Given the description of an element on the screen output the (x, y) to click on. 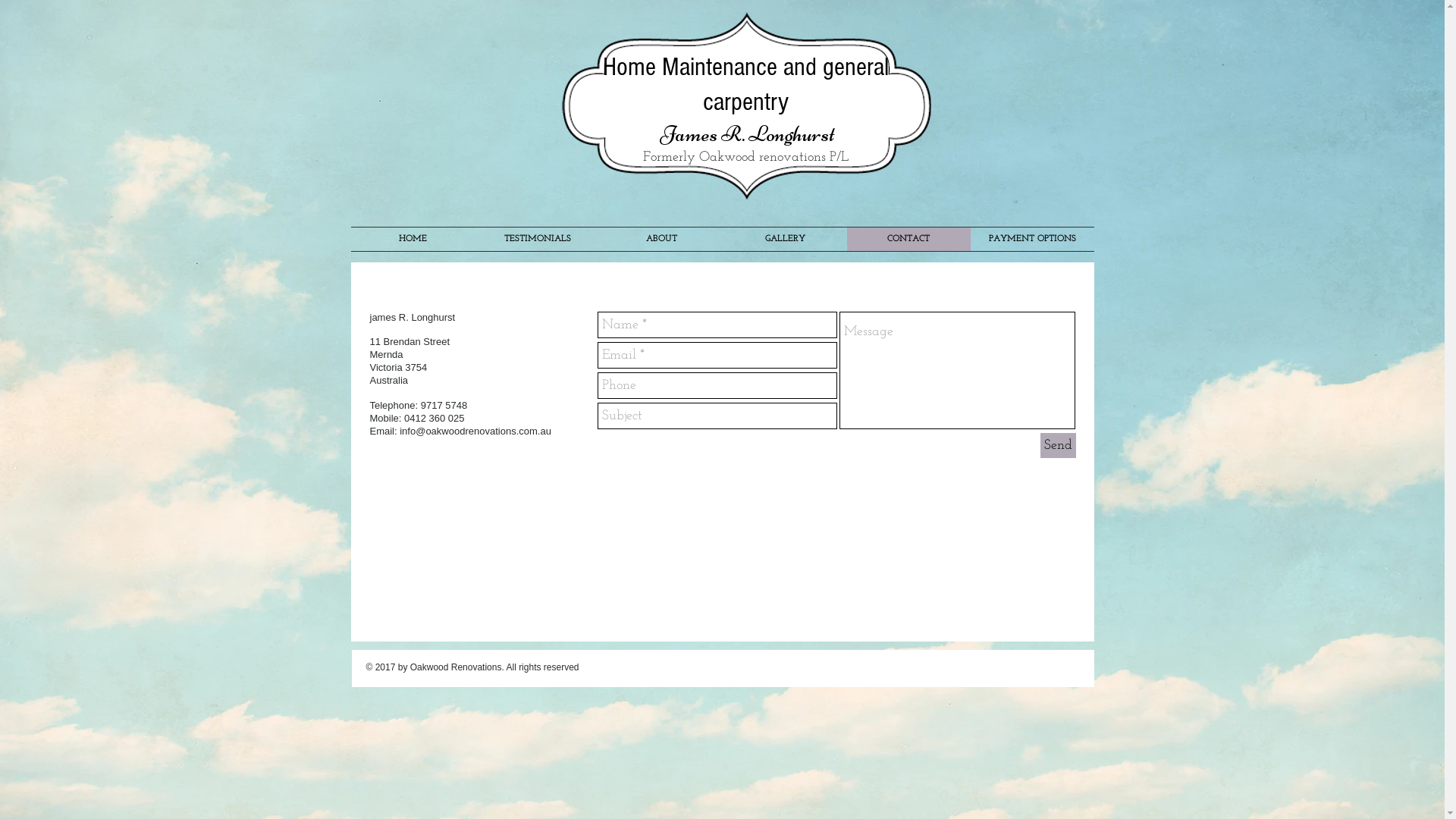
Send Element type: text (1058, 445)
TESTIMONIALS Element type: text (536, 239)
PAYMENT OPTIONS Element type: text (1032, 239)
HOME Element type: text (412, 239)
CONTACT Element type: text (907, 239)
ABOUT Element type: text (660, 239)
Formerly Oakwood renovations P/L Element type: text (745, 157)
info@oakwoodrenovations.com.au Element type: text (475, 430)
GALLERY Element type: text (785, 239)
James R. Longhurst Element type: text (747, 133)
